Given the description of an element on the screen output the (x, y) to click on. 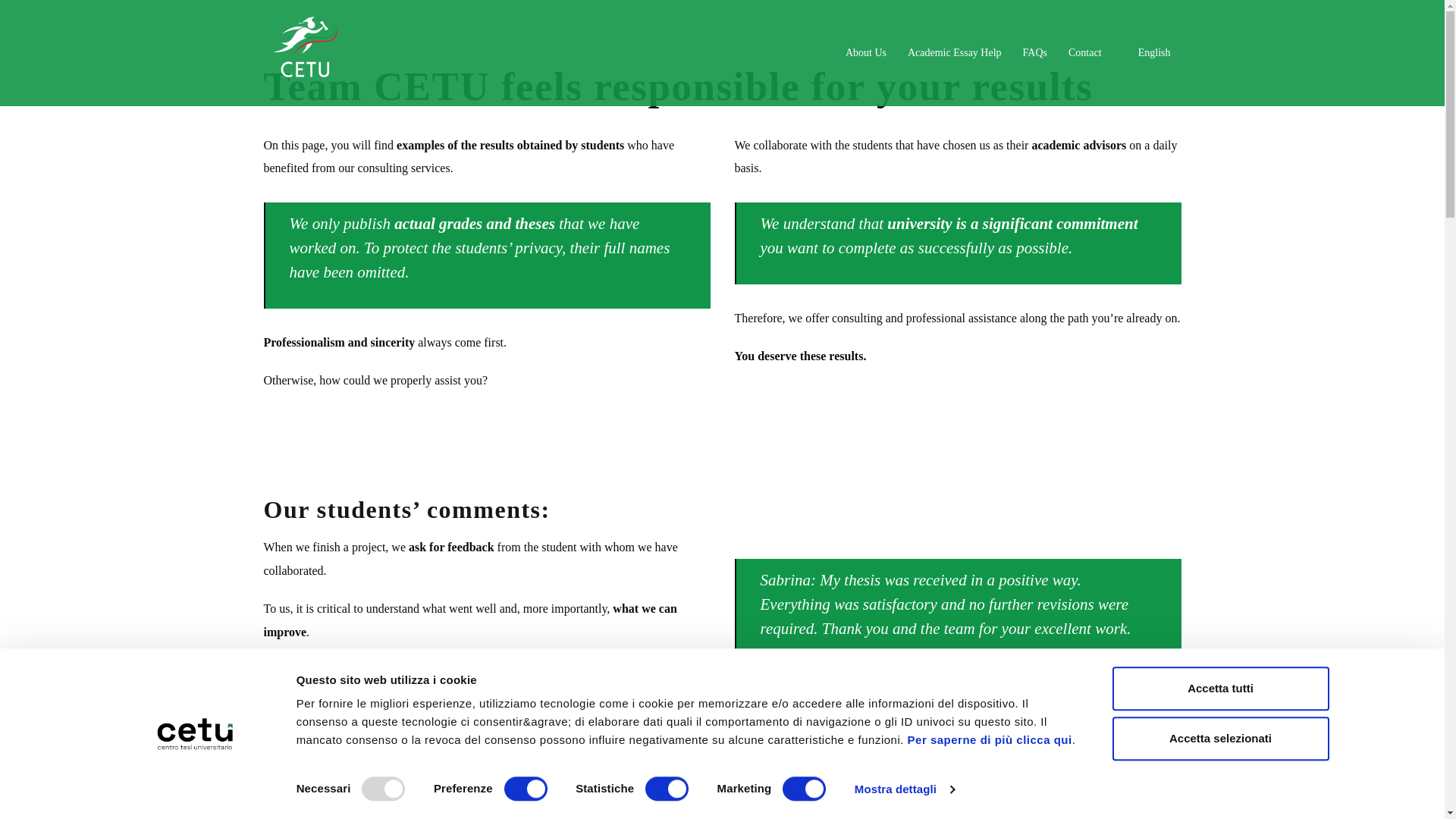
Accetta tutti (1219, 688)
Mostra dettagli (904, 789)
Academic Essay Help (954, 53)
CETU (304, 51)
Accetta selezionati (1219, 738)
About Us (865, 53)
